Given the description of an element on the screen output the (x, y) to click on. 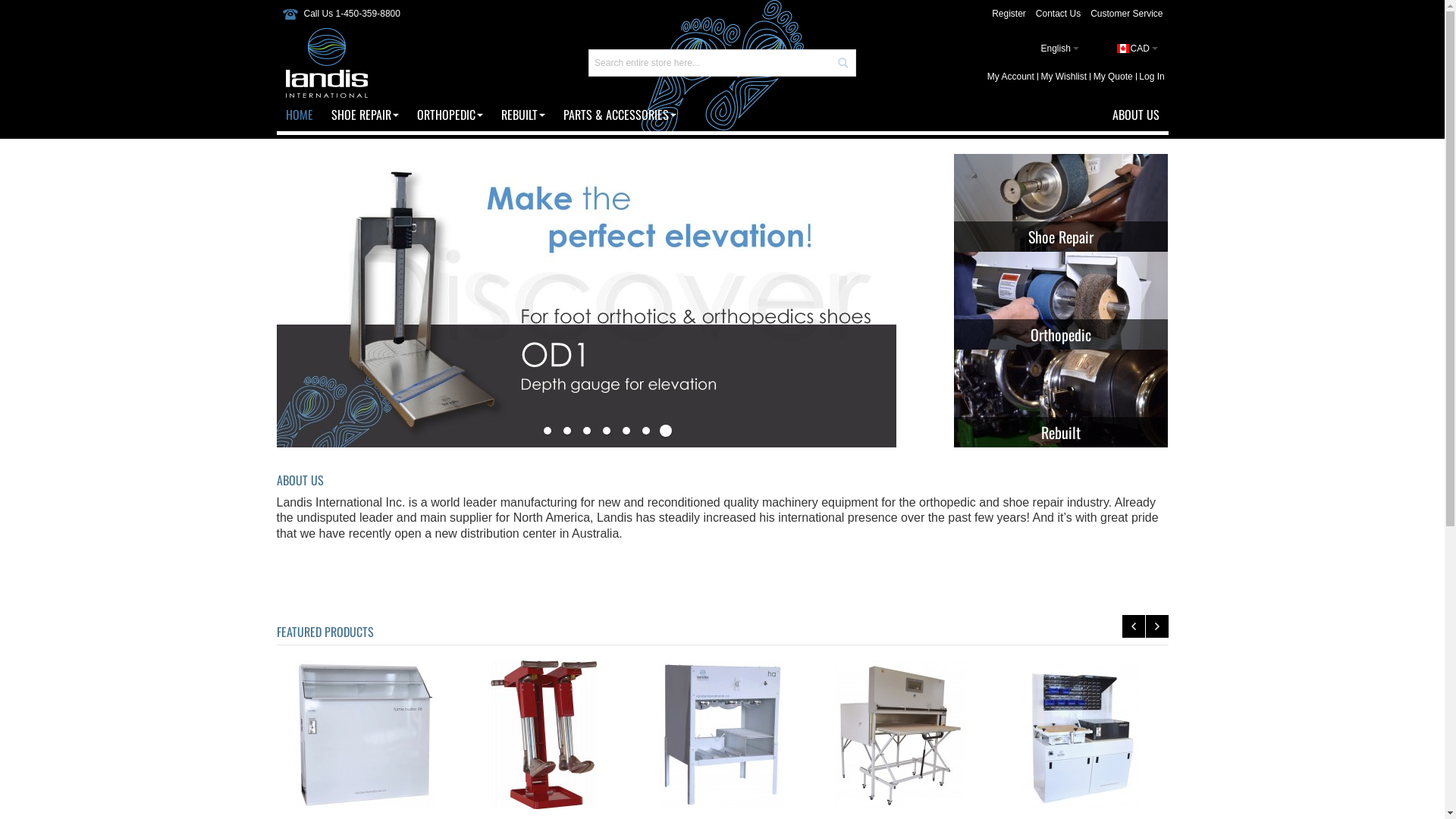
My Account Element type: text (1010, 76)
ABOUT US Element type: text (1134, 114)
Shoe Repair Element type: text (1060, 202)
REBUILT  Element type: text (522, 114)
SHOE REPAIR  Element type: text (364, 114)
Contact Us Element type: text (1057, 13)
Customer Service Element type: text (1126, 13)
Log In Element type: text (1151, 76)
Magento Commerce Element type: hover (326, 42)
Rebuilt Element type: text (1060, 398)
Work Station Element type: hover (1078, 734)
HOME Element type: text (298, 114)
My Quote Element type: text (1112, 76)
PARTS & ACCESSORIES  Element type: text (618, 114)
Double boot stretcher - Model Ultra 80L Element type: hover (543, 734)
Orthopedic Element type: text (1060, 300)
My Wishlist Element type: text (1063, 76)
Register Element type: text (1008, 13)
Heat Activator Element type: hover (721, 734)
OD1 Element type: hover (585, 160)
Infrared Oven IR1303 Element type: hover (899, 734)
ORTHOPEDIC  Element type: text (449, 114)
Search Element type: hover (842, 62)
